Given the description of an element on the screen output the (x, y) to click on. 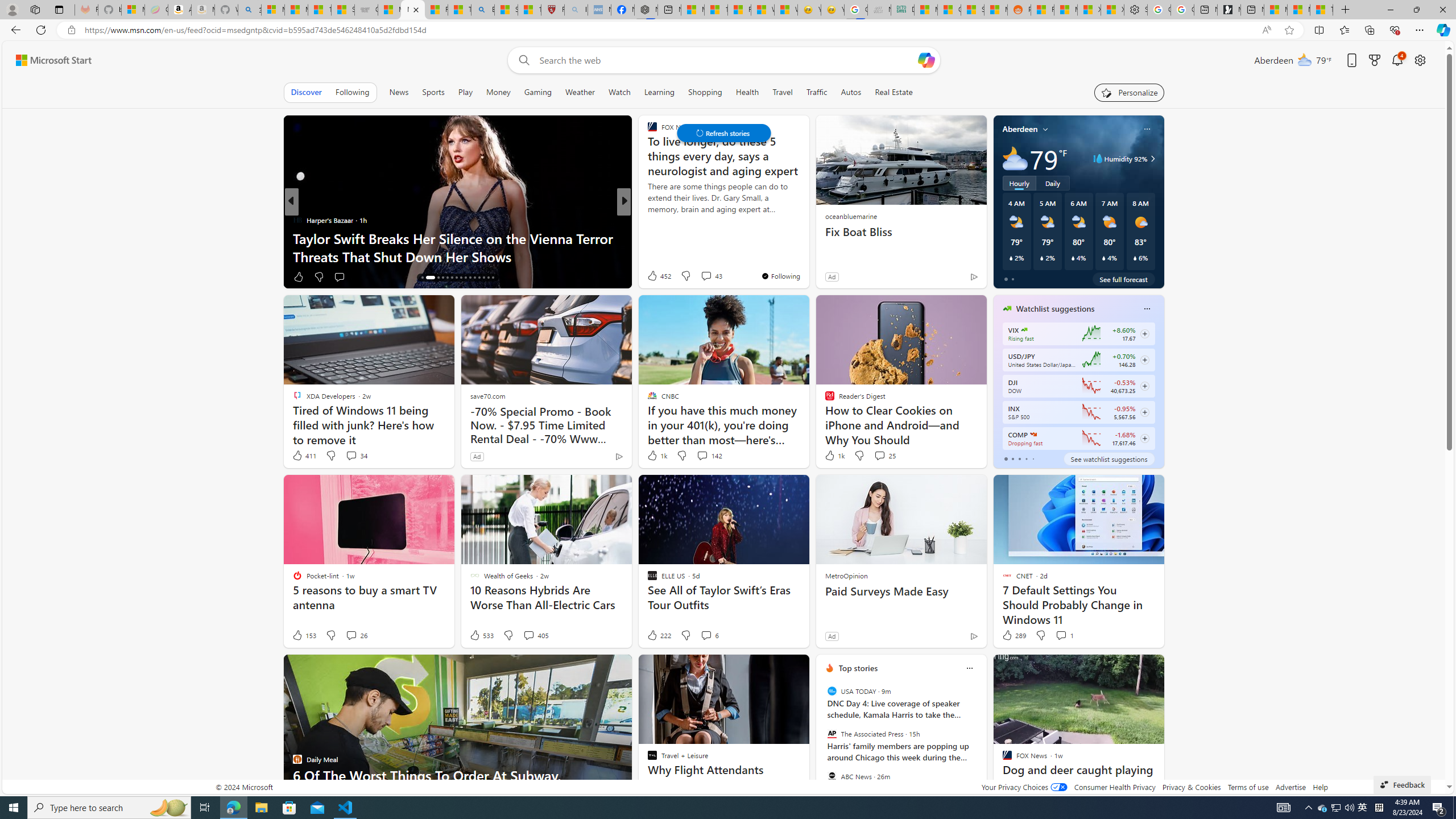
Daily Meal (647, 238)
Recipes - MSN (435, 9)
Mostly cloudy (1014, 158)
See full forecast (1123, 278)
AutomationID: tab-21 (451, 277)
153 Like (303, 634)
ABC News (832, 775)
Class: icon-img (968, 668)
Privacy & Cookies (1191, 786)
AutomationID: tab-20 (446, 277)
